Given the description of an element on the screen output the (x, y) to click on. 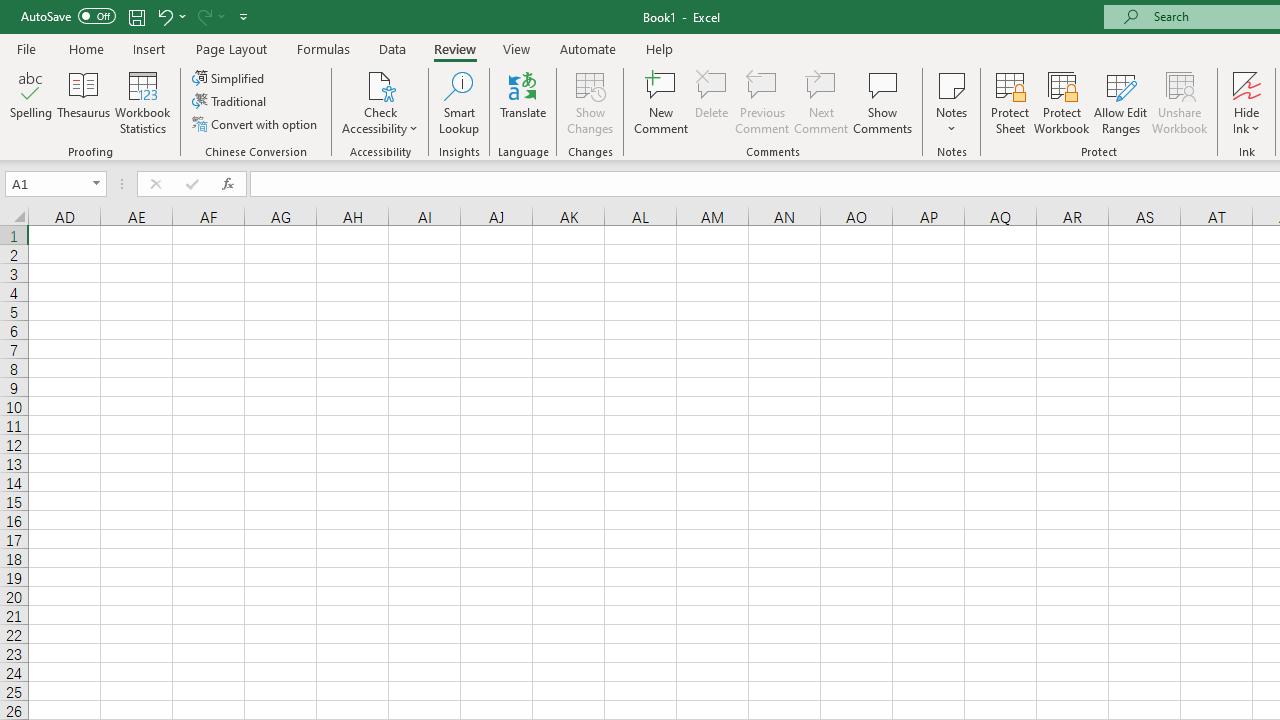
New Comment (661, 102)
